Given the description of an element on the screen output the (x, y) to click on. 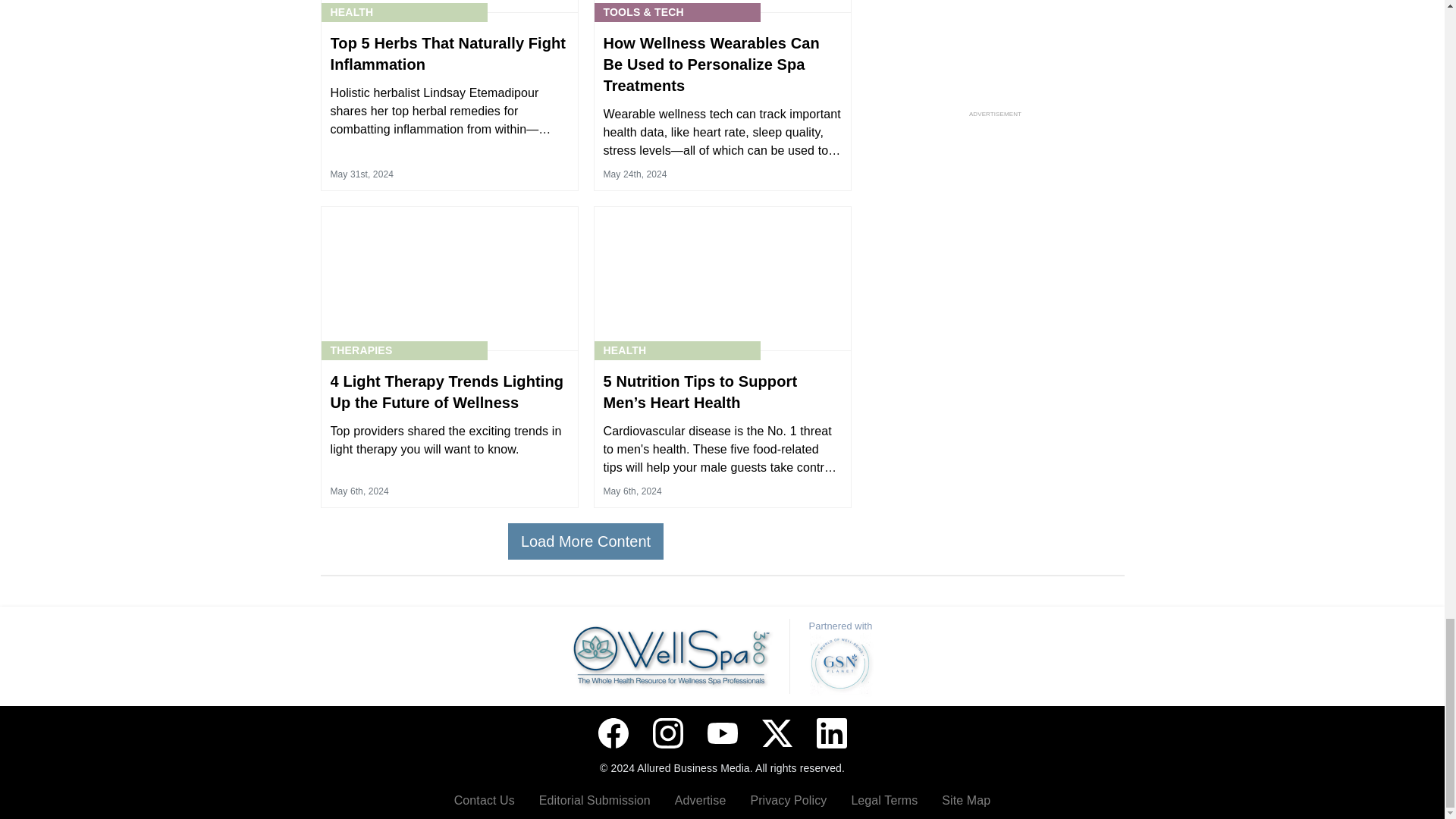
Facebook icon (611, 733)
Instagram icon (667, 733)
Twitter X icon (776, 733)
YouTube icon (721, 733)
